Given the description of an element on the screen output the (x, y) to click on. 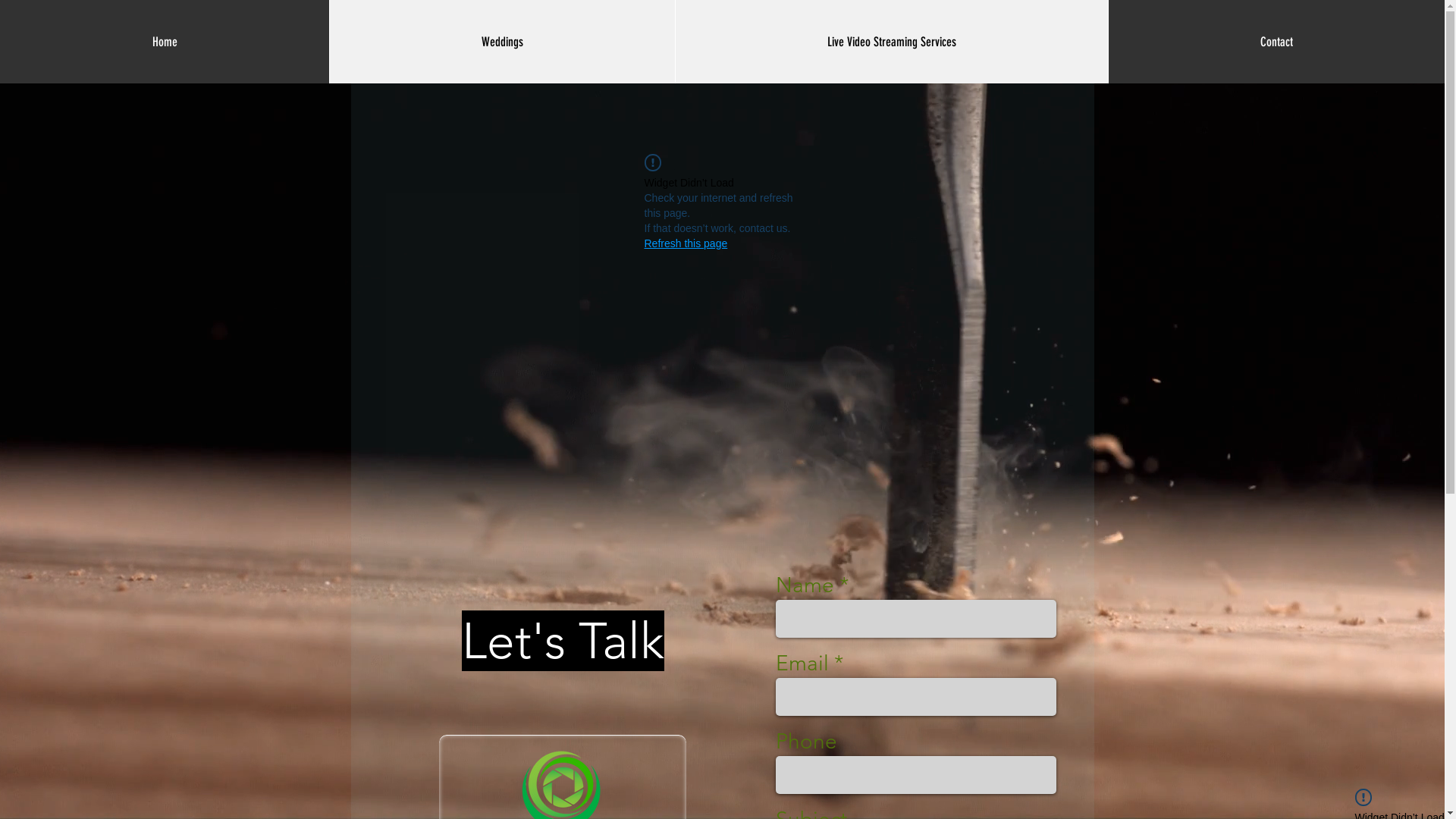
Live Video Streaming Services Element type: text (890, 41)
Weddings Element type: text (501, 41)
Home Element type: text (164, 41)
Contact Element type: text (1275, 41)
Refresh this page Element type: text (686, 243)
